Given the description of an element on the screen output the (x, y) to click on. 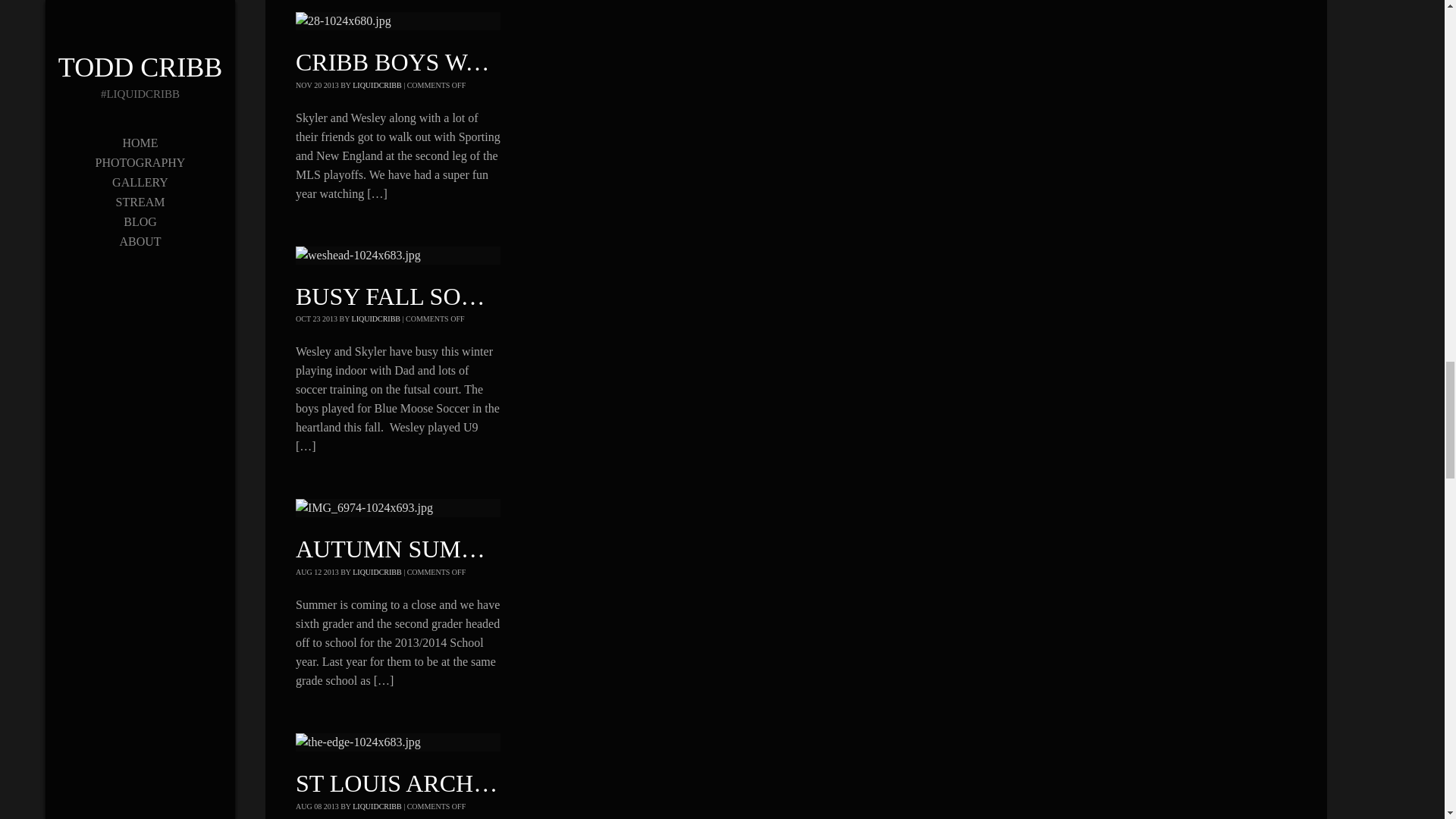
CRIBB BOYS WALK FOR SPORTING PLAYOFF GAME (587, 62)
BUSY FALL SOCCER SEASON 2013 RECAP (528, 296)
LIQUIDCRIBB (376, 85)
